Given the description of an element on the screen output the (x, y) to click on. 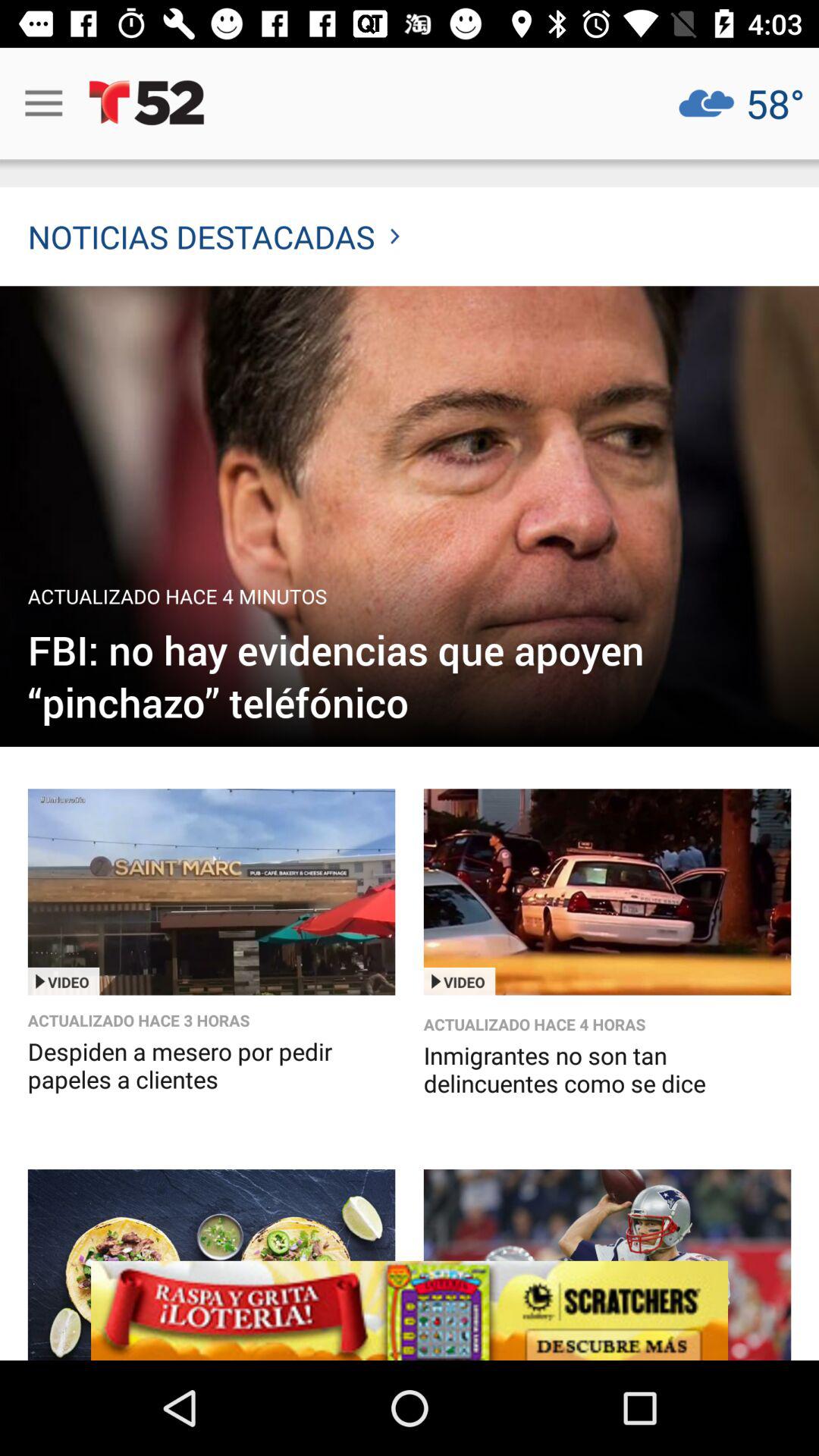
select article (211, 1264)
